Given the description of an element on the screen output the (x, y) to click on. 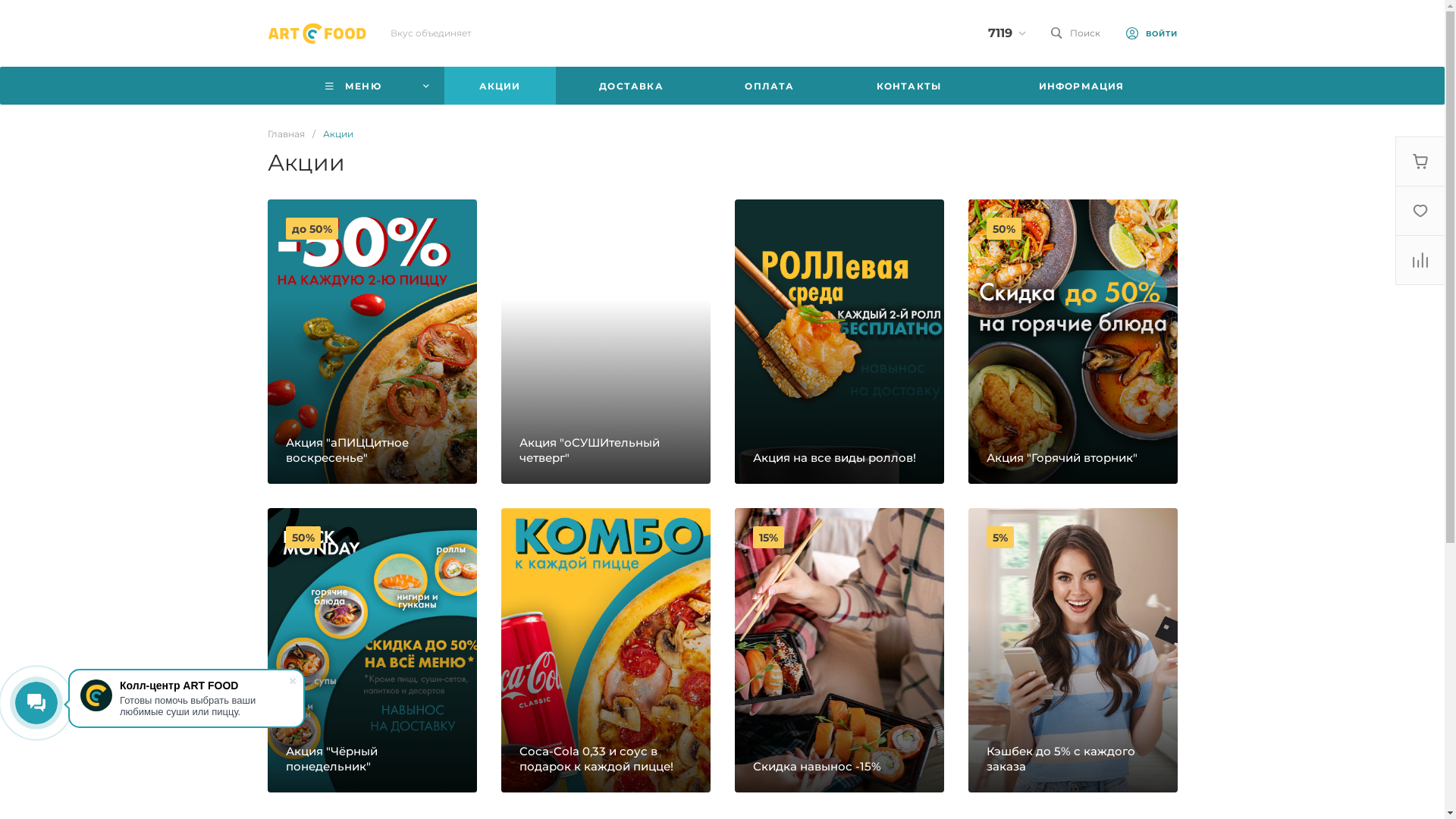
7119 Element type: text (999, 33)
